Given the description of an element on the screen output the (x, y) to click on. 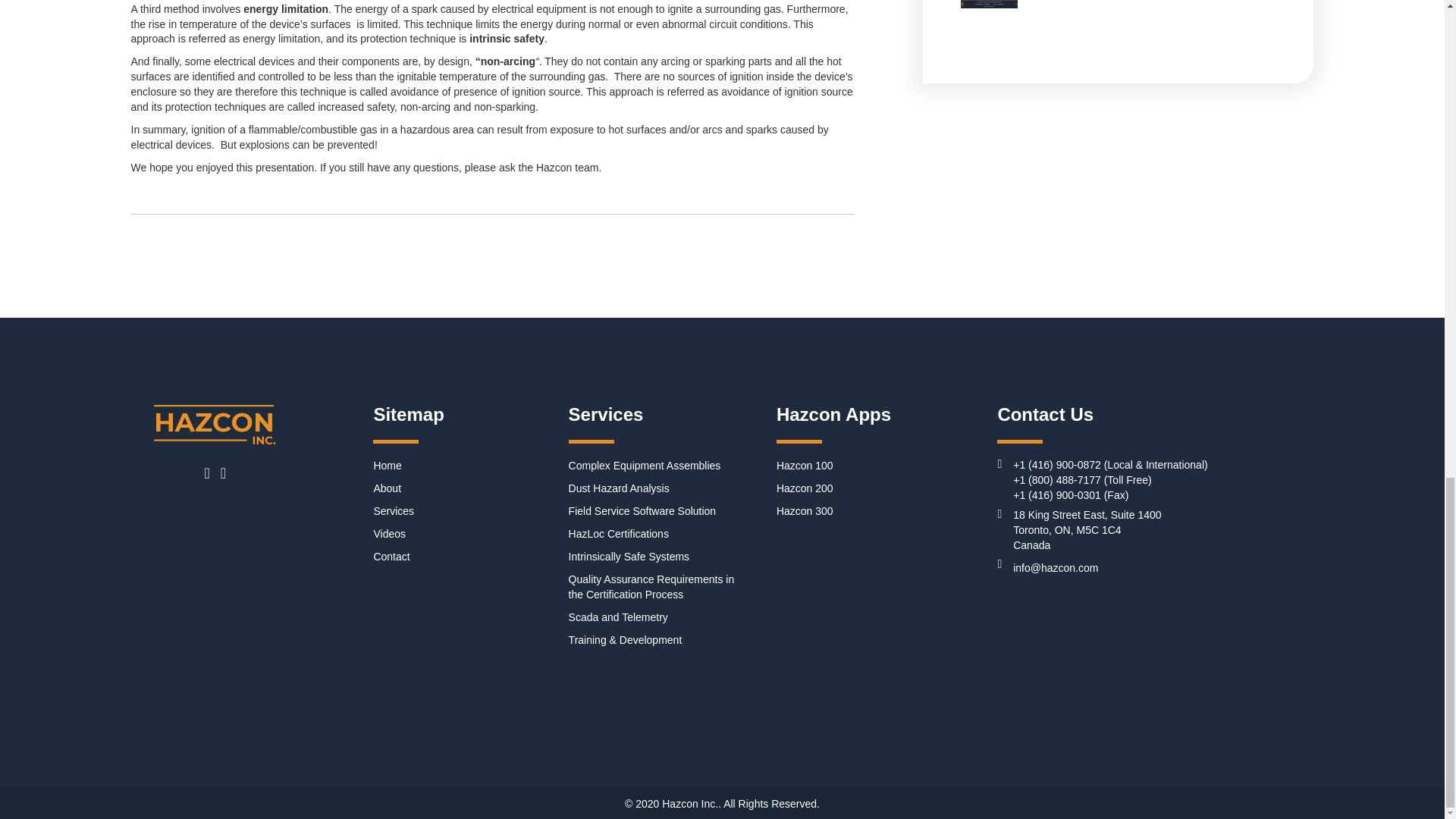
Field Service Software Solution (642, 510)
About (386, 488)
Zone 0 (988, 4)
Complex Equipment Assemblies (644, 465)
Services (392, 510)
Contact (390, 556)
Dust Hazard Analysis (619, 488)
Home (386, 465)
Videos (389, 533)
HAZCON-LOGOorange (215, 425)
HazLoc Certifications (618, 533)
Fundamentals of Zone 0 (1117, 7)
